Given the description of an element on the screen output the (x, y) to click on. 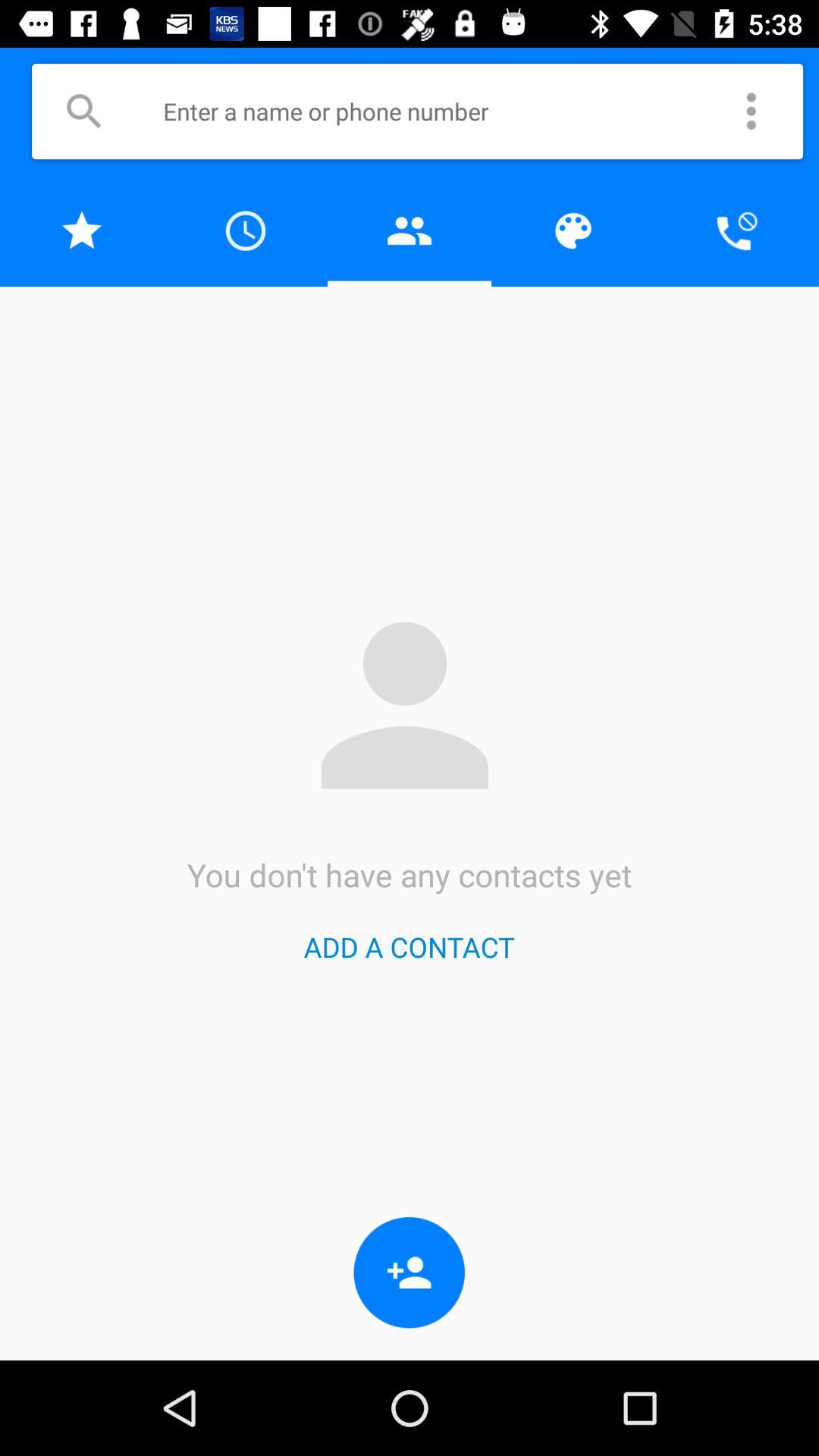
enter name or number (439, 110)
